Given the description of an element on the screen output the (x, y) to click on. 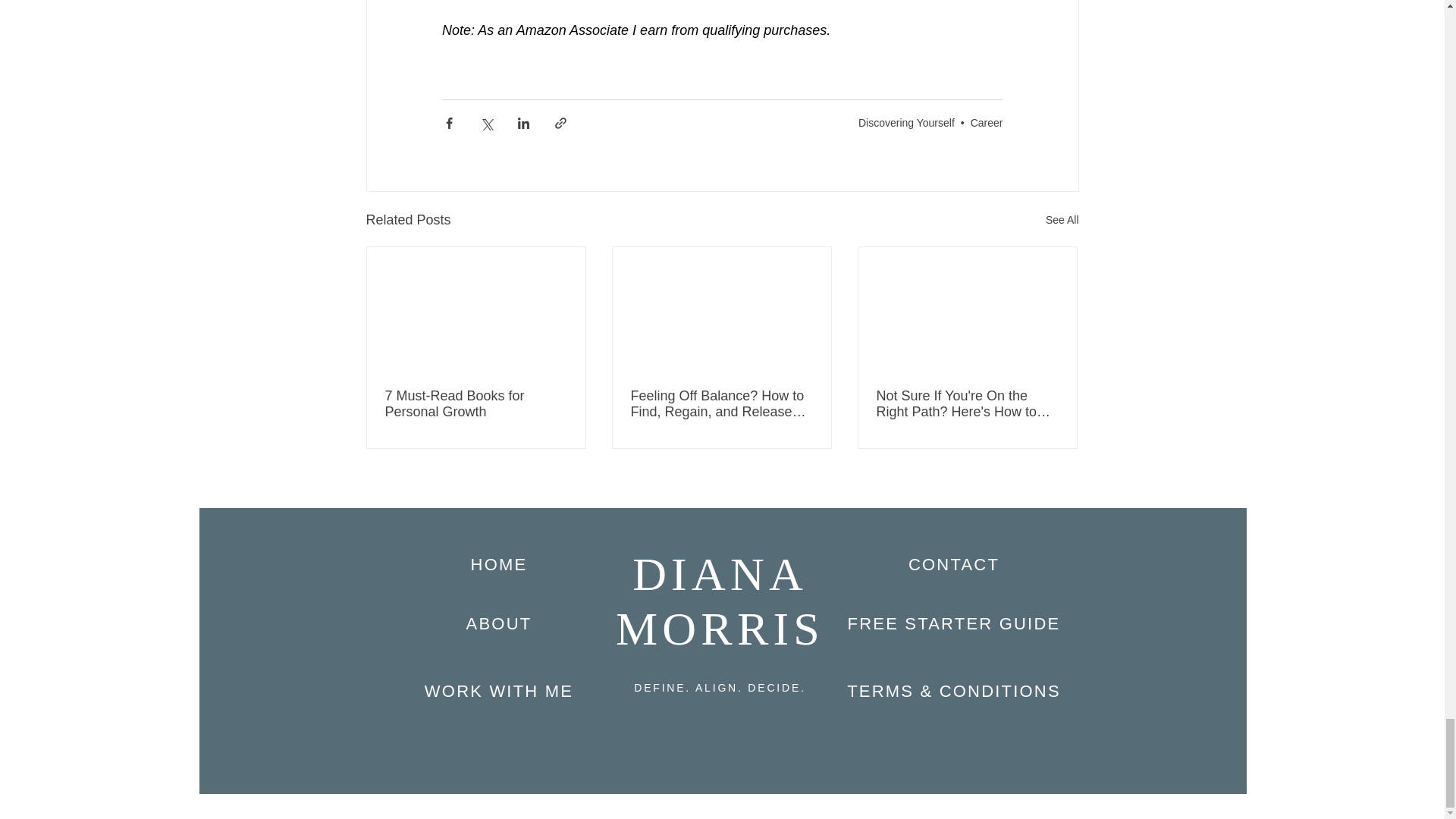
WORK WITH ME (499, 691)
Discovering Yourself (907, 122)
ABOUT (498, 623)
7 Must-Read Books for Personal Growth (476, 404)
HOME (498, 564)
CONTACT (953, 564)
See All (1061, 219)
Career (987, 122)
